Given the description of an element on the screen output the (x, y) to click on. 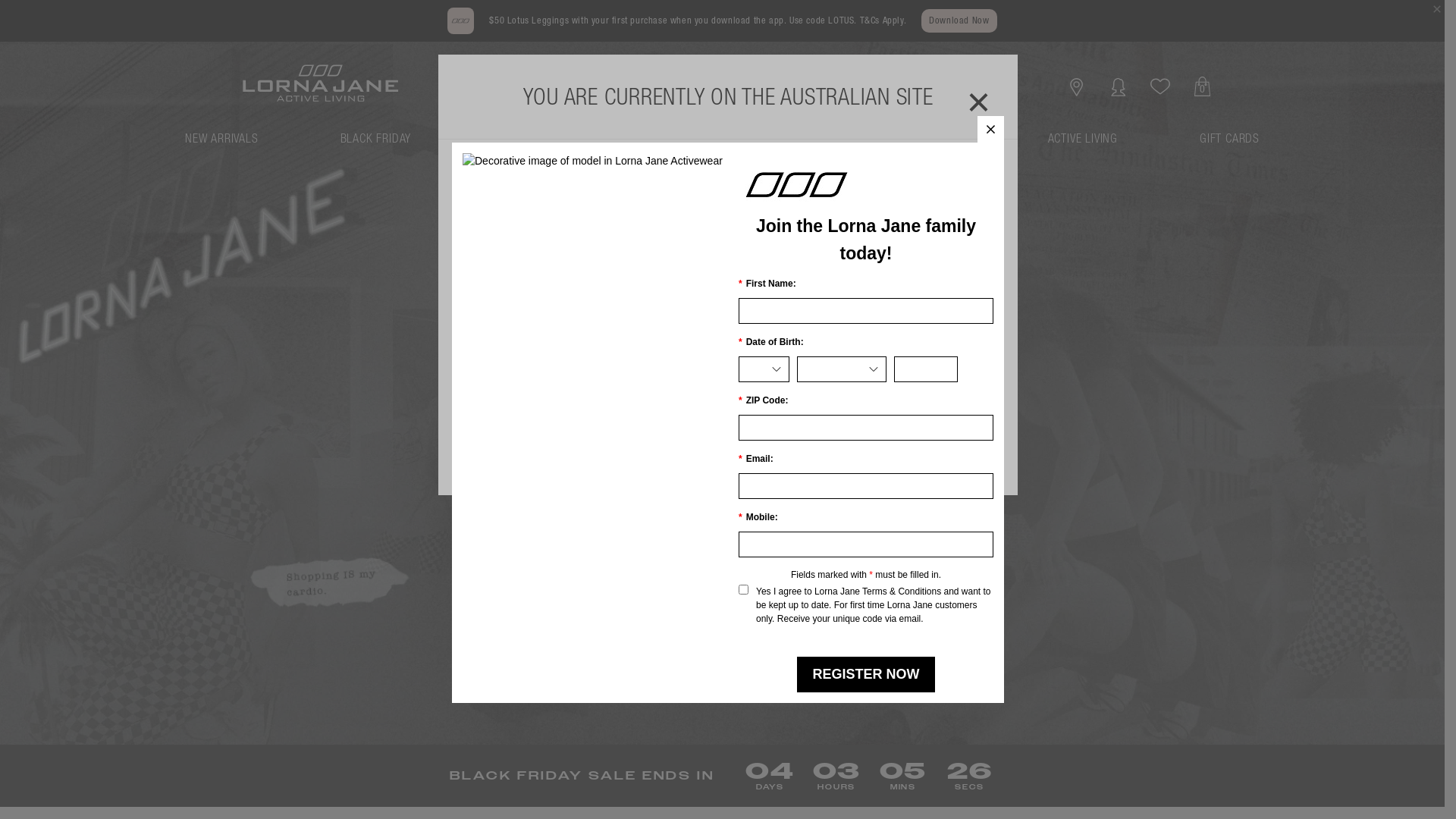
CHRISTMAS GIFTING Element type: text (914, 144)
FEATURED Element type: text (517, 144)
Stay on the Australian Site Element type: text (727, 447)
CLOTHING Element type: text (650, 144)
0 Element type: text (1202, 85)
Shop Lotus Leggings Element type: hover (595, 422)
ACTIVE LIVING Element type: text (1082, 144)
GIFT CARDS Element type: text (1229, 144)
Lorna Jane Logo  Element type: hover (865, 184)
BLACK FRIDAY Element type: text (375, 144)
BLACK FRIDAY SALE ENDS IN
04
DAYS
03
HOURS
05
MINS
51
SECS Element type: text (722, 775)
SALE Element type: text (769, 144)
REGISTER NOW Element type: text (865, 674)
Download Now Element type: text (958, 20)
NEW ARRIVALS Element type: text (221, 144)
GO TO SINGAPORE SITE Element type: text (727, 341)
